Given the description of an element on the screen output the (x, y) to click on. 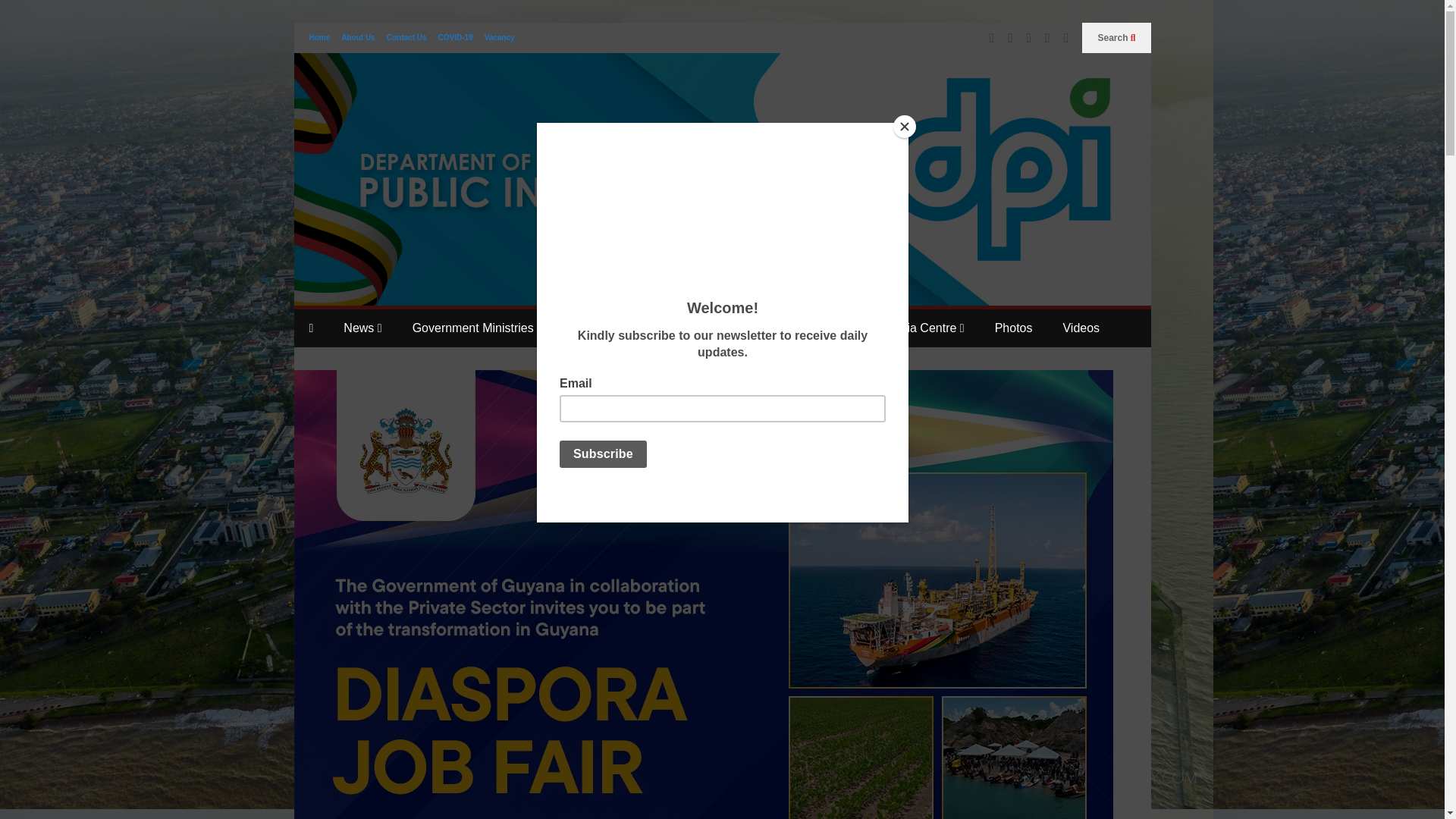
News (362, 328)
Contact Us (406, 37)
Home (319, 37)
Vacancy (499, 37)
Search (1116, 37)
About Us (357, 37)
COVID-19 (455, 37)
